Given the description of an element on the screen output the (x, y) to click on. 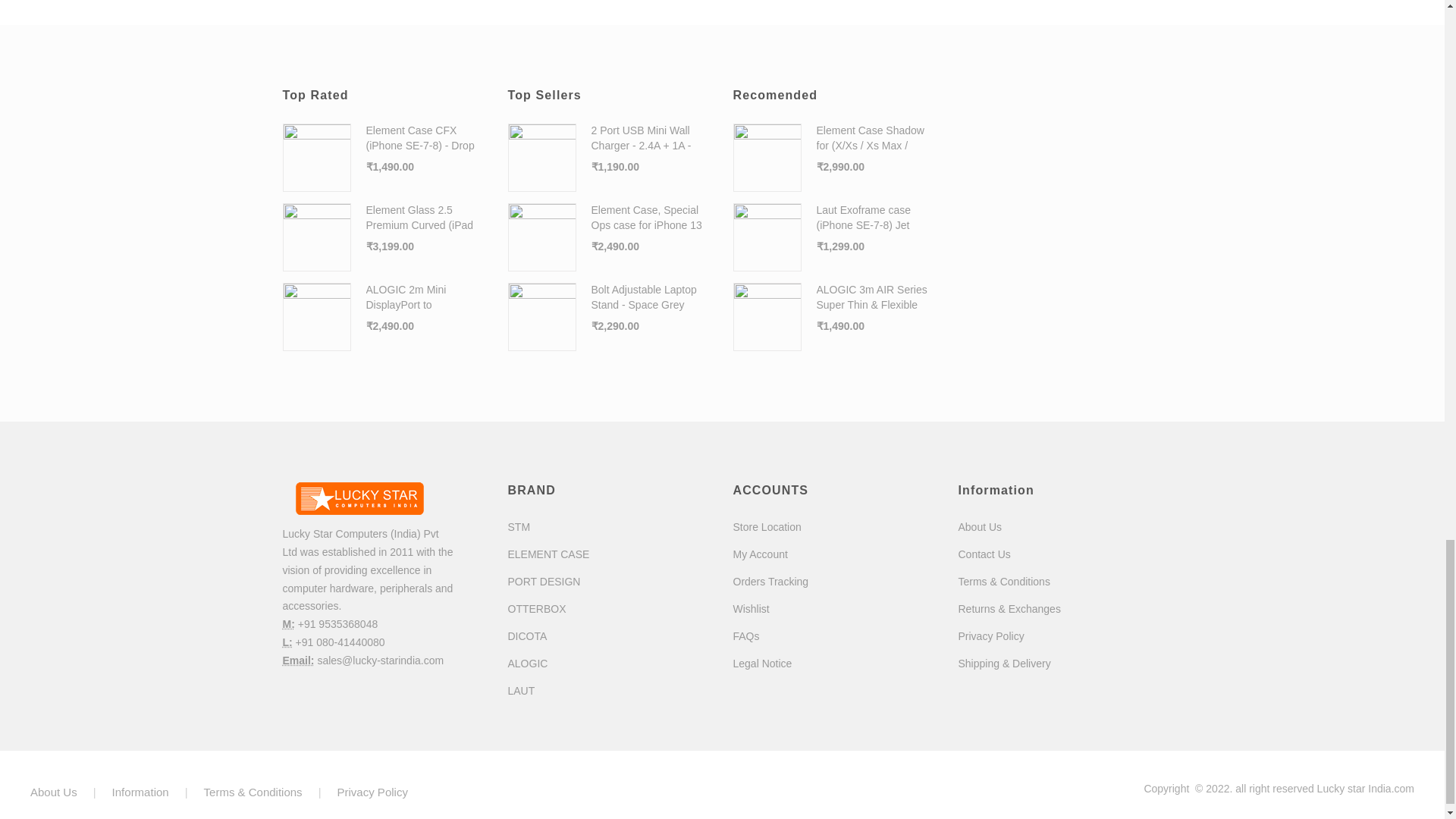
Email Address (298, 660)
Phone Number (288, 623)
